Given the description of an element on the screen output the (x, y) to click on. 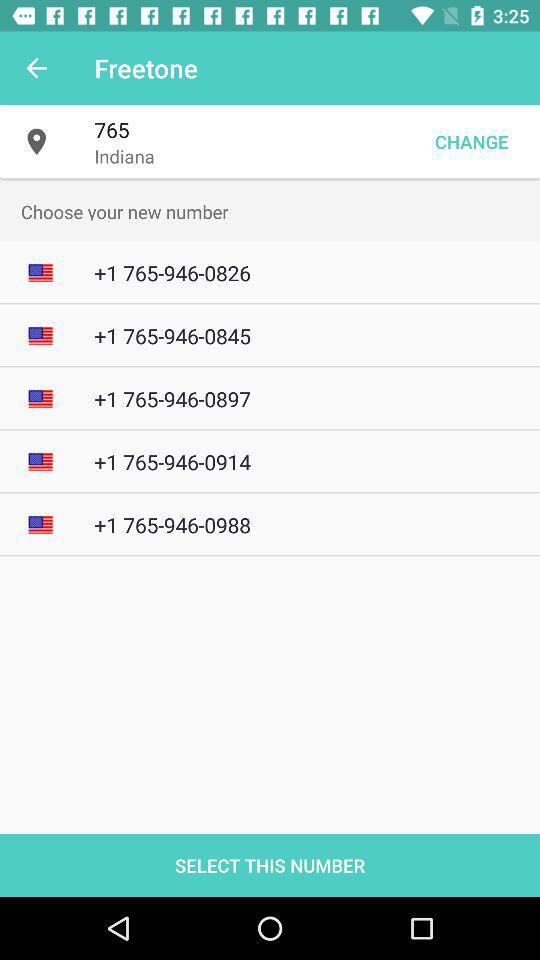
press the item to the right of the indiana (471, 141)
